Given the description of an element on the screen output the (x, y) to click on. 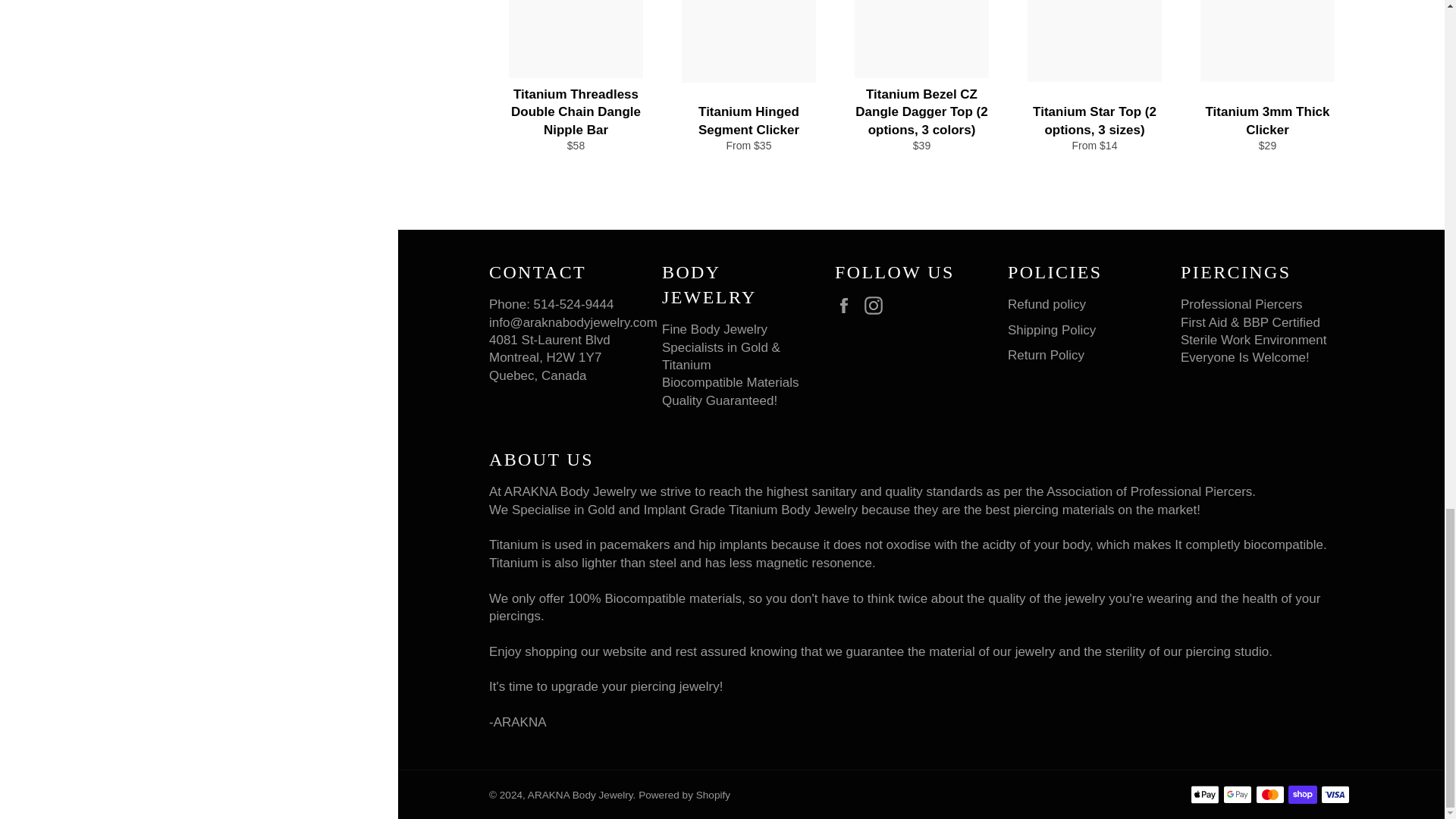
ARAKNA Body Jewelry on Instagram (876, 304)
ARAKNA Body Jewelry on Facebook (847, 304)
